Given the description of an element on the screen output the (x, y) to click on. 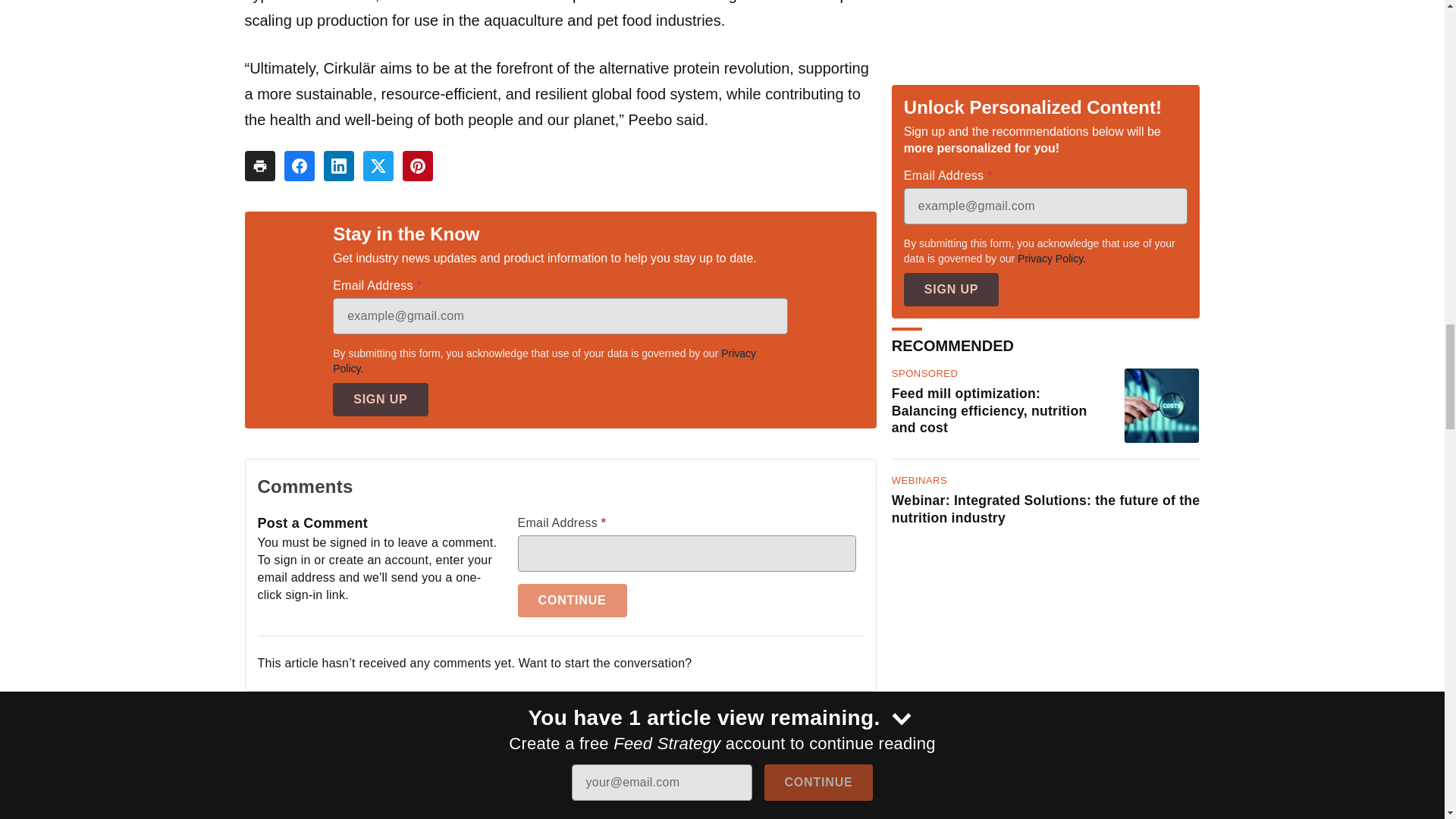
Share To print (259, 165)
Share To facebook (298, 165)
3rd party ad content (721, 795)
Share To pinterest (416, 165)
Share To twitter (377, 165)
Share To linkedin (338, 165)
